Given the description of an element on the screen output the (x, y) to click on. 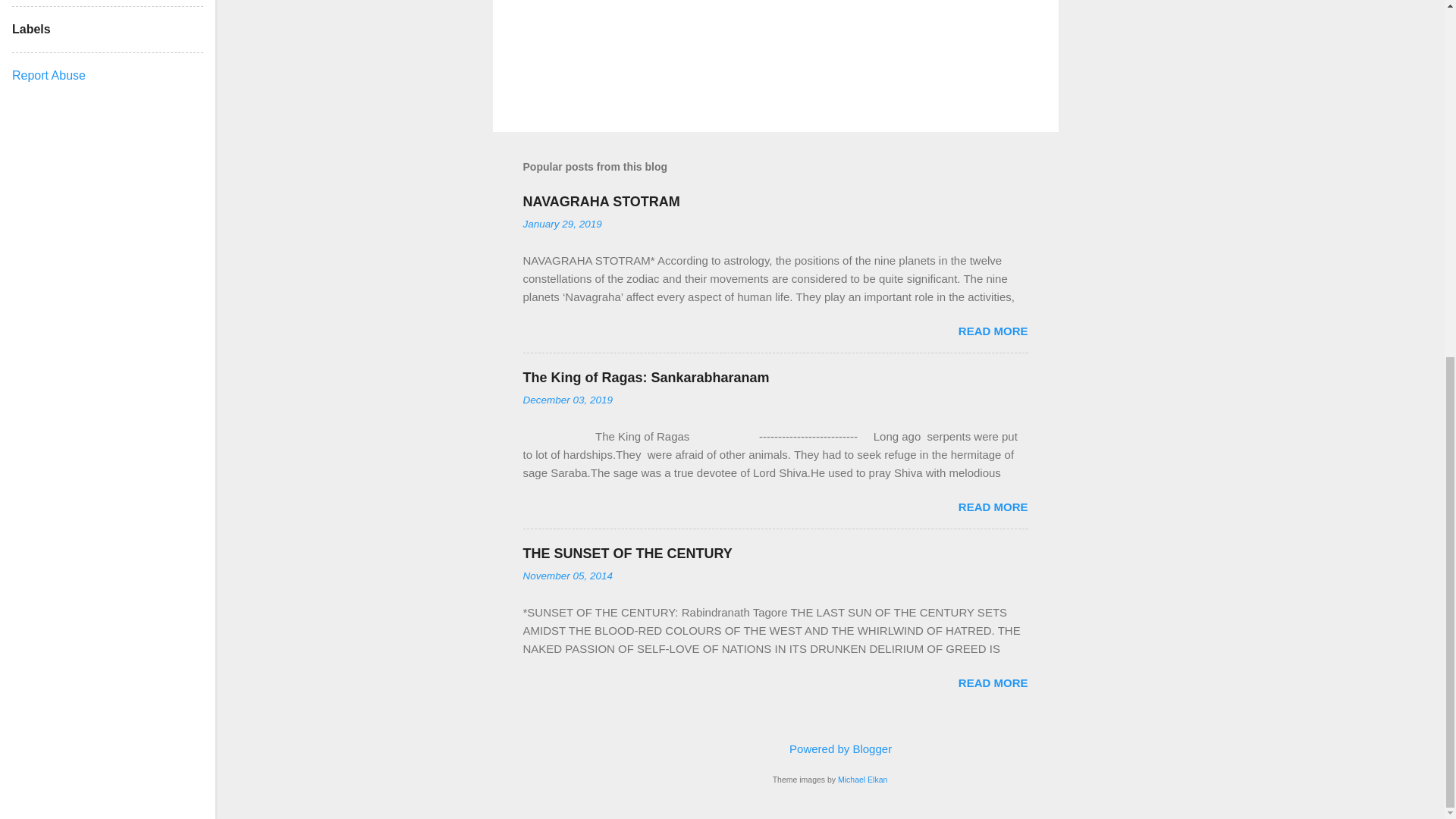
November 05, 2014 (567, 575)
READ MORE (992, 682)
READ MORE (992, 506)
Powered by Blogger (829, 748)
The King of Ragas: Sankarabharanam (646, 377)
Michael Elkan (862, 778)
January 29, 2019 (562, 224)
THE SUNSET OF THE CENTURY (627, 553)
NAVAGRAHA STOTRAM (600, 201)
December 03, 2019 (567, 399)
READ MORE (992, 330)
